Given the description of an element on the screen output the (x, y) to click on. 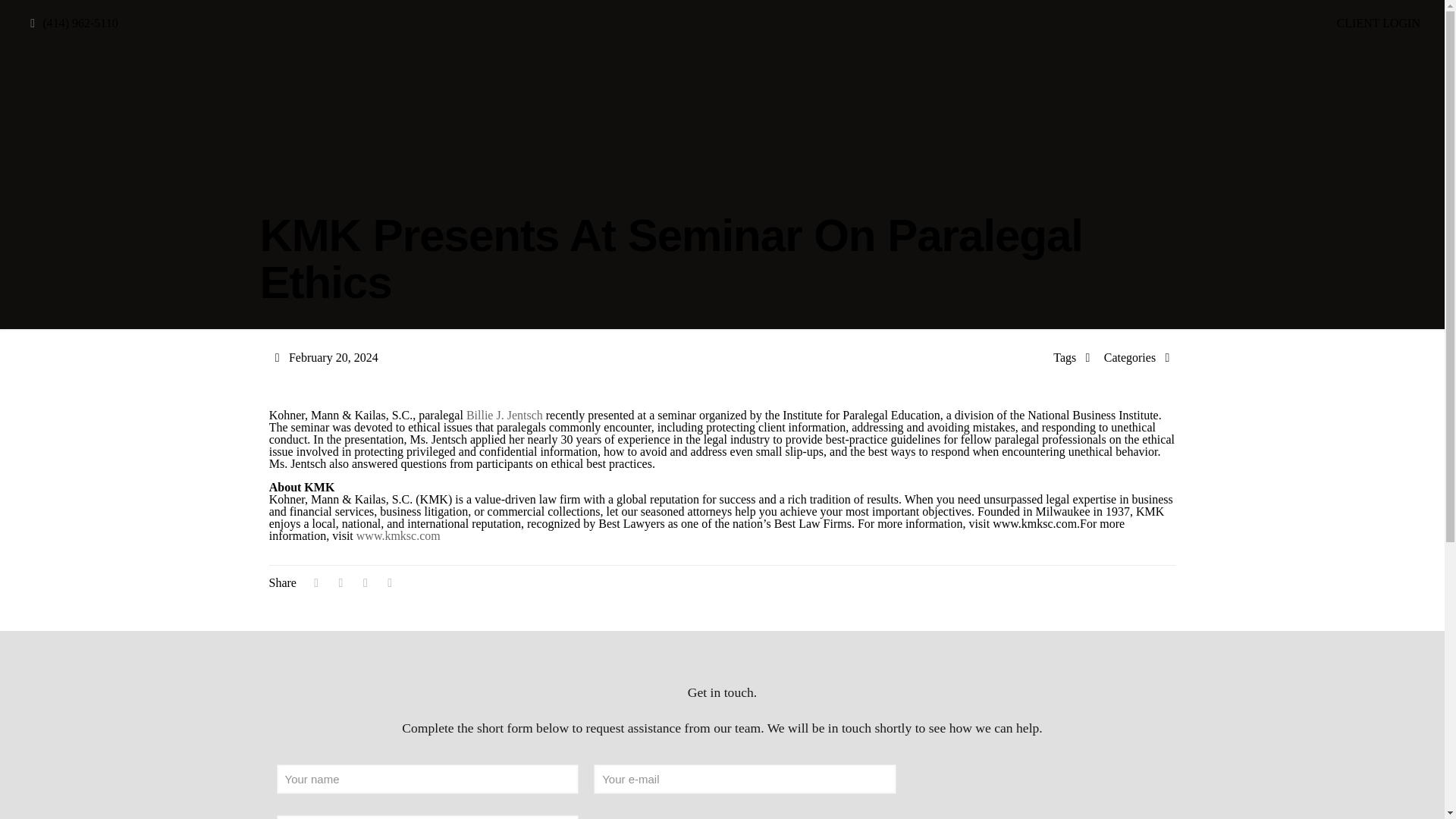
www.kmksc.com (398, 535)
CLIENT LOGIN (1378, 22)
Billie J. Jentsch (504, 414)
